Given the description of an element on the screen output the (x, y) to click on. 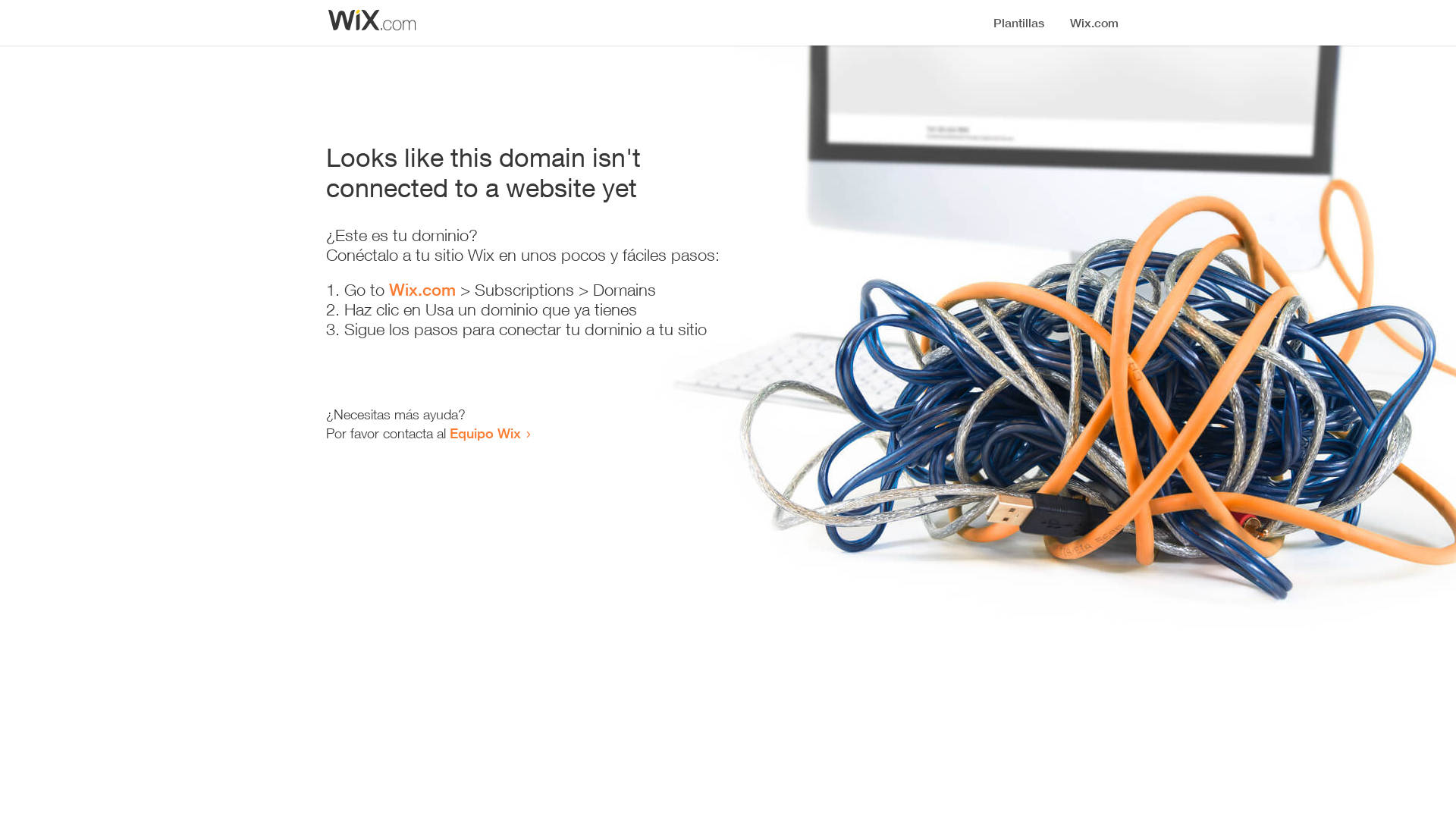
Equipo Wix Element type: text (484, 432)
Wix.com Element type: text (422, 289)
